Given the description of an element on the screen output the (x, y) to click on. 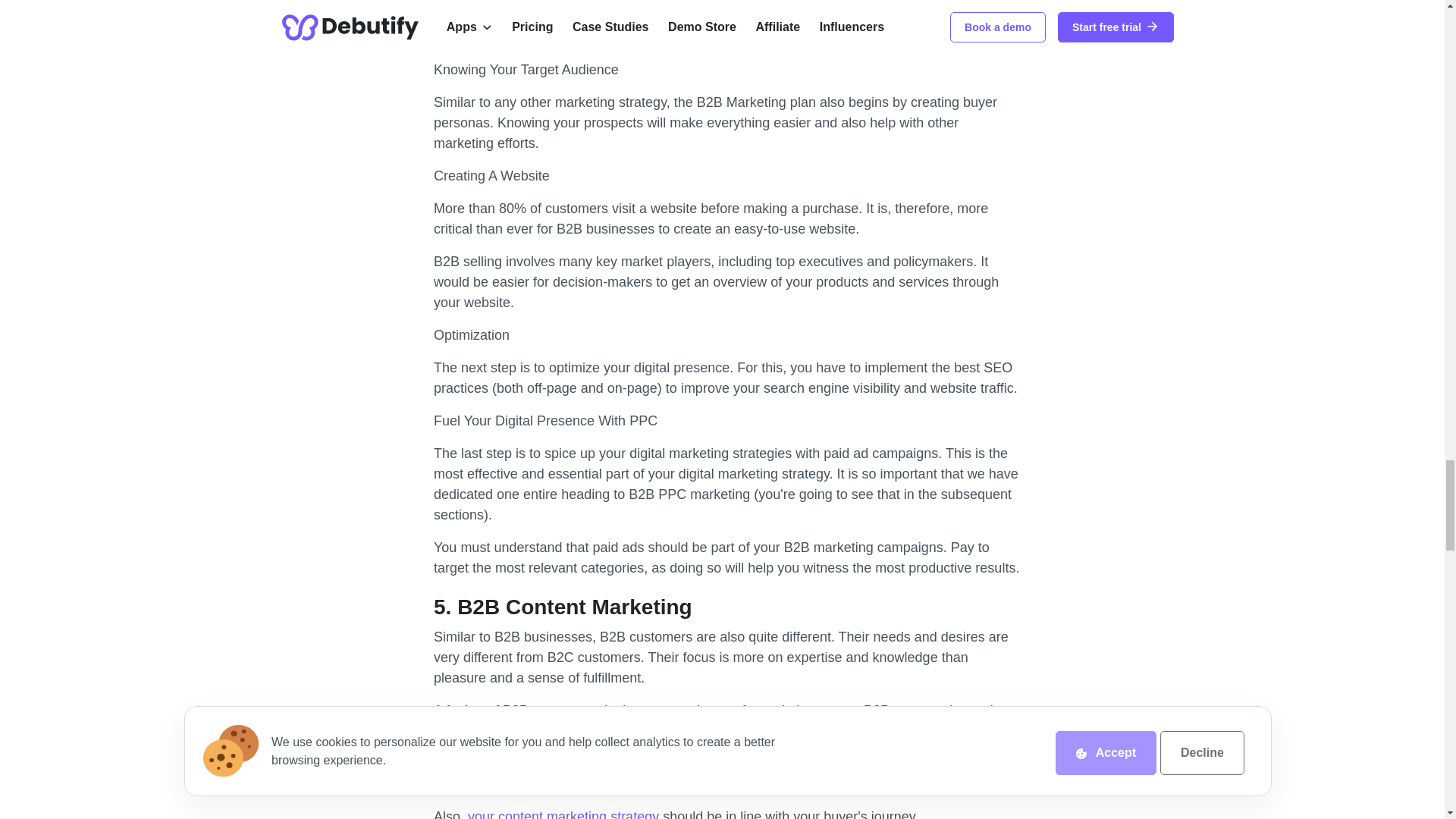
your content marketing strategy (563, 814)
